Given the description of an element on the screen output the (x, y) to click on. 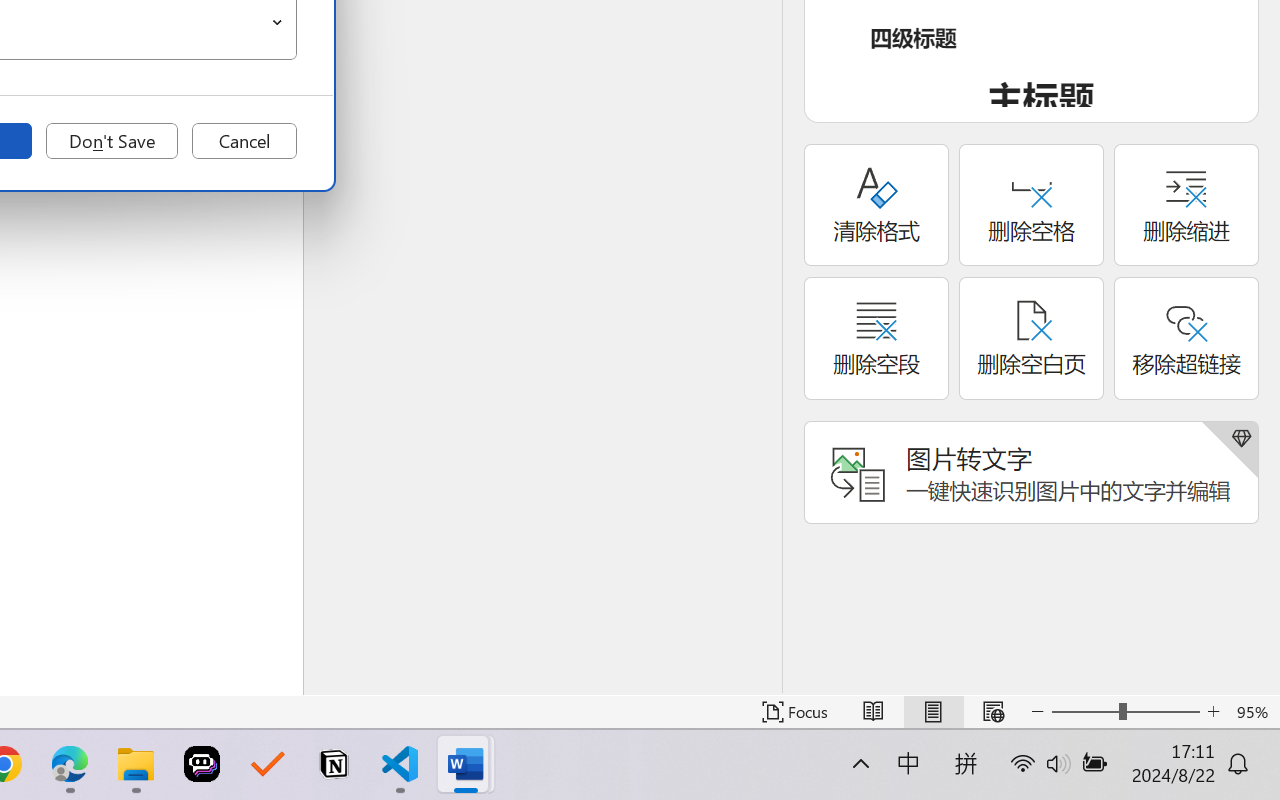
Zoom 95% (1253, 712)
Don't Save (111, 141)
